Given the description of an element on the screen output the (x, y) to click on. 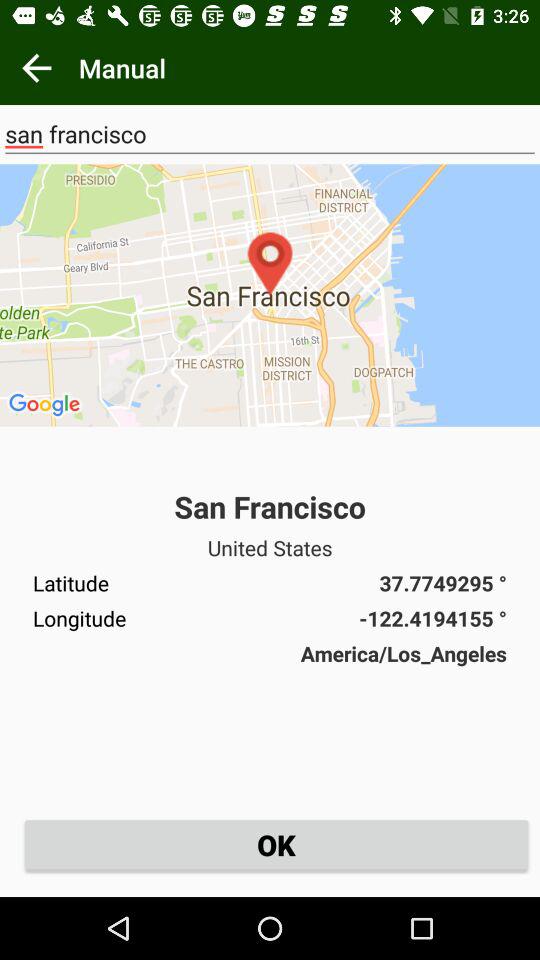
choose the icon below san francisco icon (270, 295)
